Given the description of an element on the screen output the (x, y) to click on. 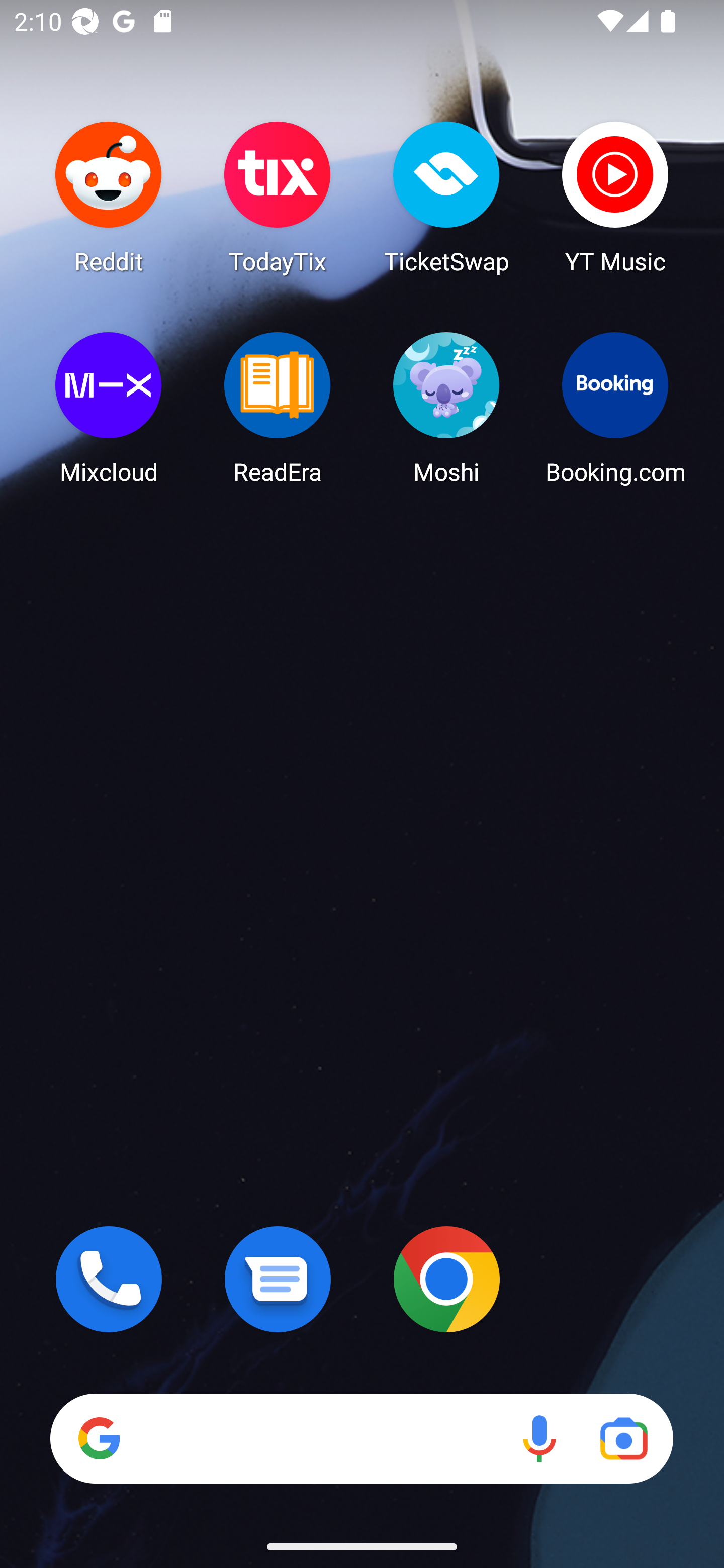
Reddit (108, 196)
TodayTix (277, 196)
TicketSwap (445, 196)
YT Music (615, 196)
Mixcloud (108, 407)
ReadEra (277, 407)
Moshi (445, 407)
Booking.com (615, 407)
Phone (108, 1279)
Messages (277, 1279)
Chrome (446, 1279)
Search Voice search Google Lens (361, 1438)
Voice search (539, 1438)
Google Lens (623, 1438)
